Given the description of an element on the screen output the (x, y) to click on. 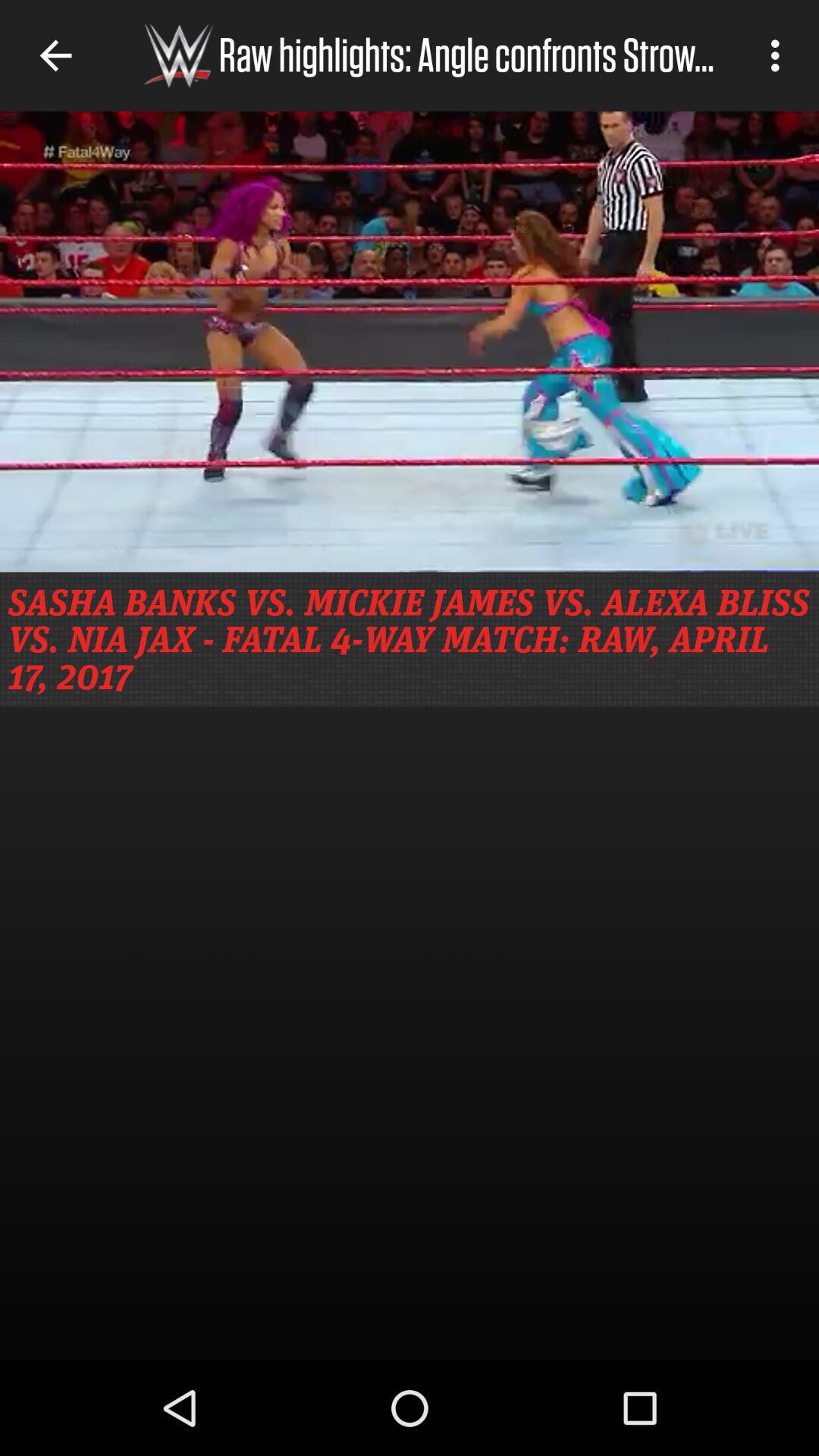
select icon at the top right corner (779, 55)
